Given the description of an element on the screen output the (x, y) to click on. 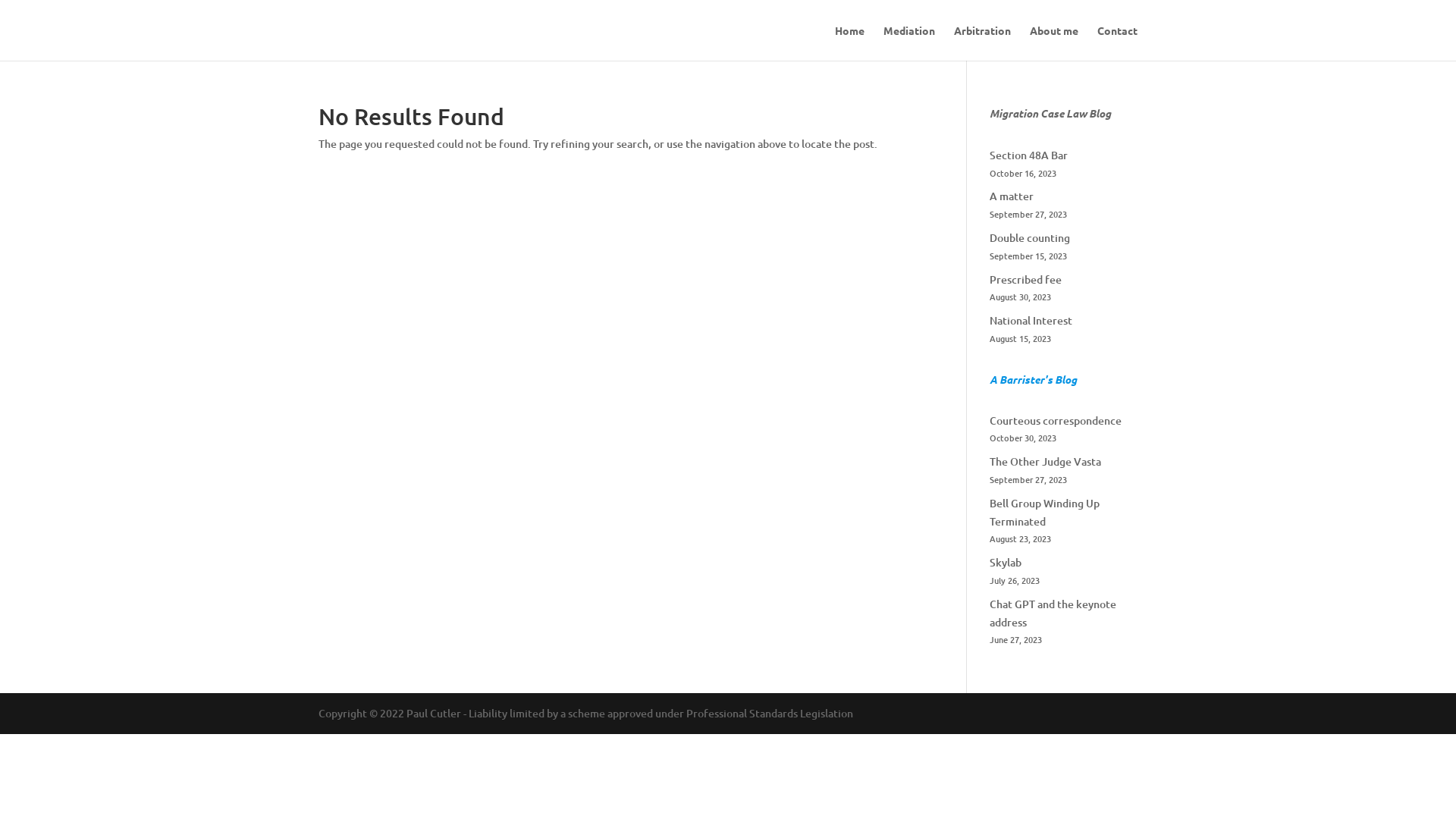
Migration Case Law Blog Element type: text (1049, 113)
Chat GPT and the keynote address Element type: text (1052, 612)
The Other Judge Vasta Element type: text (1045, 461)
About me Element type: text (1053, 42)
Prescribed fee Element type: text (1025, 279)
Section 48A Bar Element type: text (1028, 154)
National Interest Element type: text (1030, 320)
Courteous correspondence Element type: text (1055, 420)
Double counting Element type: text (1029, 237)
Bell Group Winding Up Terminated Element type: text (1044, 511)
Arbitration Element type: text (981, 42)
A matter Element type: text (1011, 195)
Skylab Element type: text (1005, 562)
Mediation Element type: text (909, 42)
Home Element type: text (849, 42)
Contact Element type: text (1117, 42)
